Given the description of an element on the screen output the (x, y) to click on. 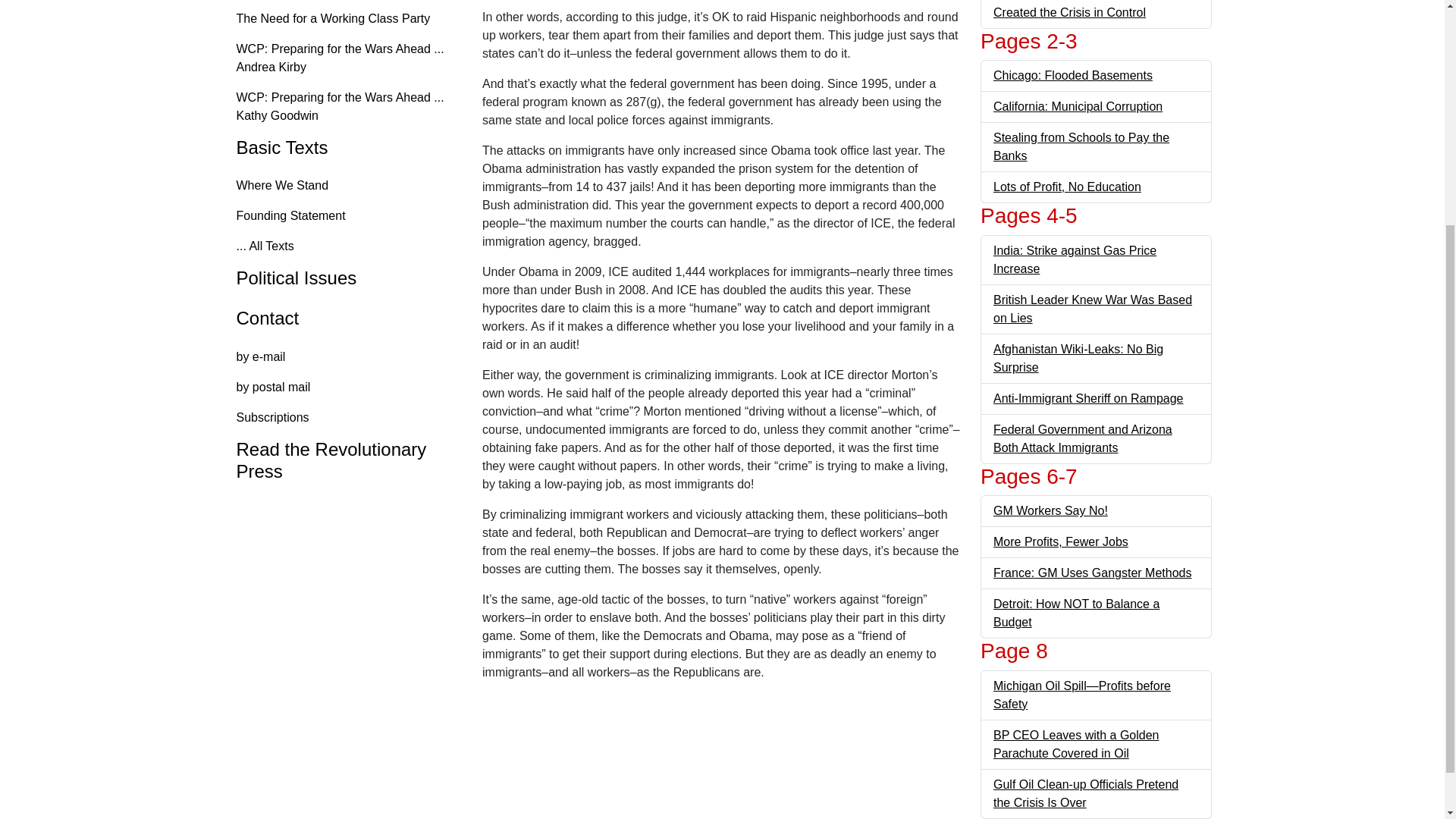
Postal mail addresses (344, 387)
Chicago: Flooded Basements (1072, 74)
Subscription Information (344, 417)
Lots of Profit, No Education (1066, 186)
The Need for a Working Class Party (344, 19)
e-mail (344, 357)
Stealing from Schools to Pay the Banks (1080, 146)
Revolutionary Publications from Other Countries (344, 460)
Read the Revolutionary Press (344, 460)
British Leader Knew War Was Based on Lies (1092, 308)
